Given the description of an element on the screen output the (x, y) to click on. 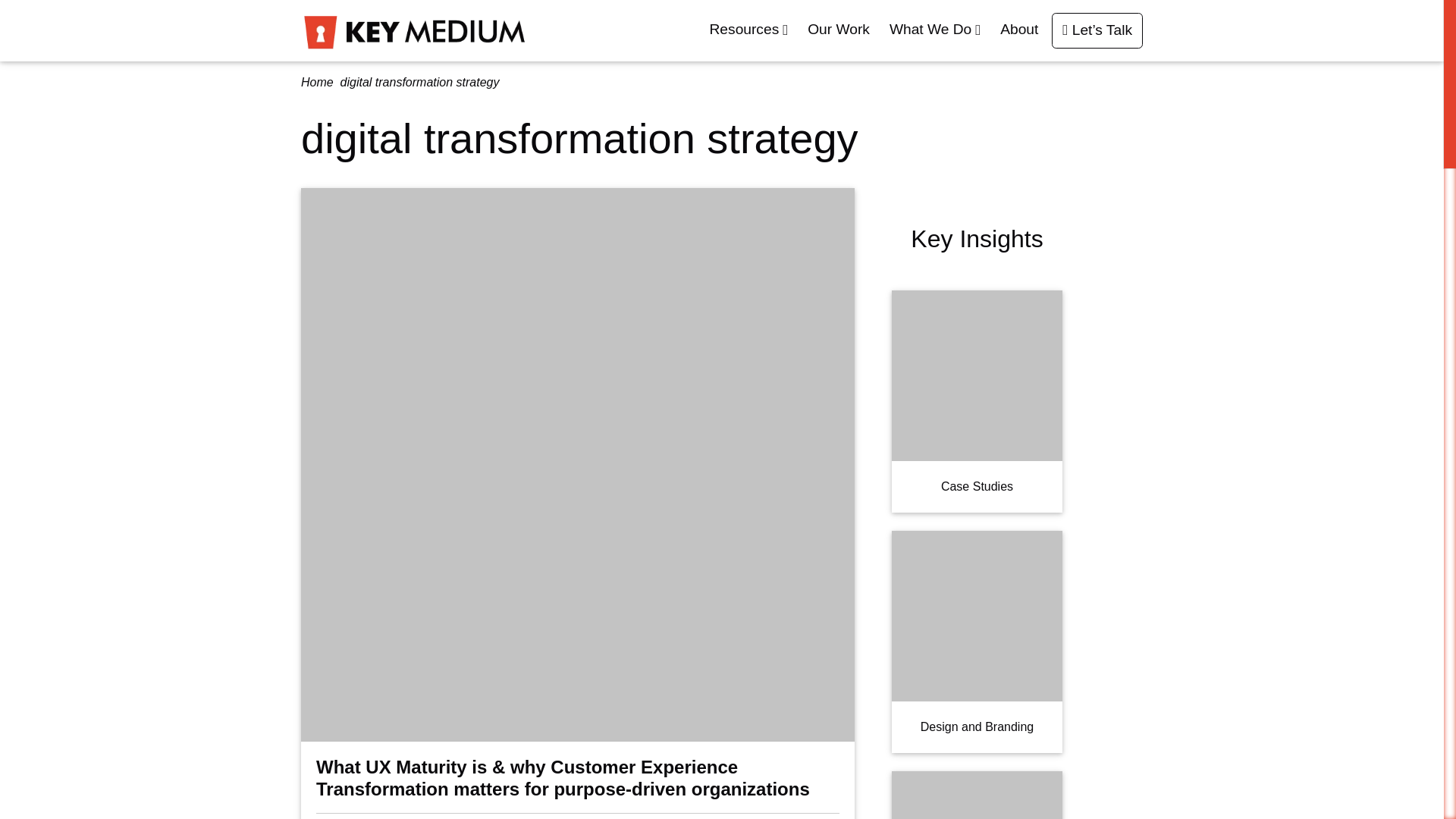
About (1022, 29)
Home (317, 82)
Resources (752, 29)
Digital Marketing (976, 795)
What We Do (938, 29)
Our Work (842, 29)
